Given the description of an element on the screen output the (x, y) to click on. 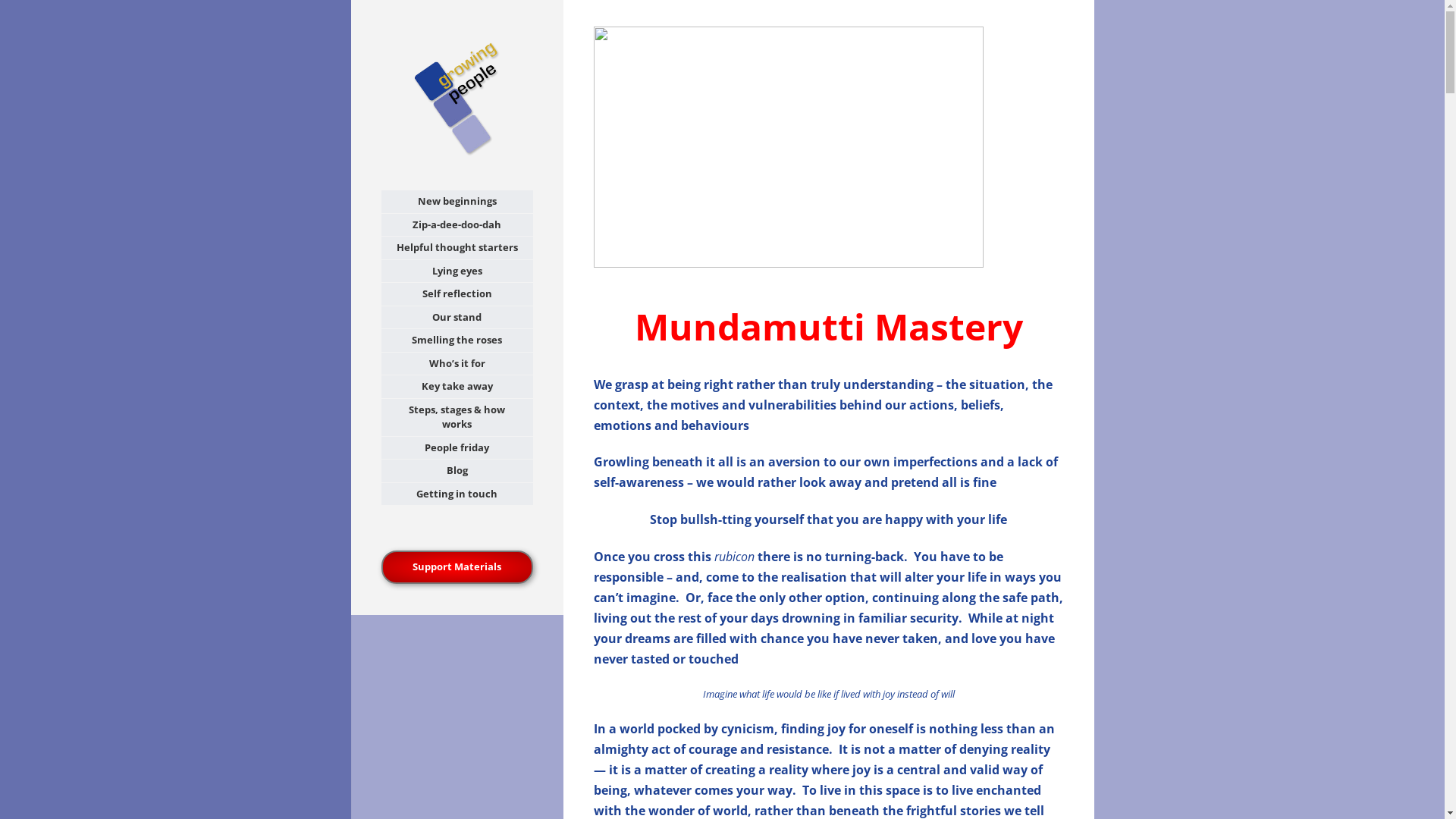
Lying eyes Element type: text (456, 270)
Smelling the roses Element type: text (456, 340)
Getting in touch Element type: text (456, 493)
Self reflection Element type: text (456, 293)
Steps, stages & how works Element type: text (456, 417)
Support Materials Element type: text (456, 566)
Helpful thought starters Element type: text (456, 247)
Blog Element type: text (456, 470)
People friday Element type: text (456, 447)
Our stand Element type: text (456, 317)
Zip-a-dee-doo-dah Element type: text (456, 224)
New beginnings Element type: text (456, 201)
Key take away Element type: text (456, 386)
